Given the description of an element on the screen output the (x, y) to click on. 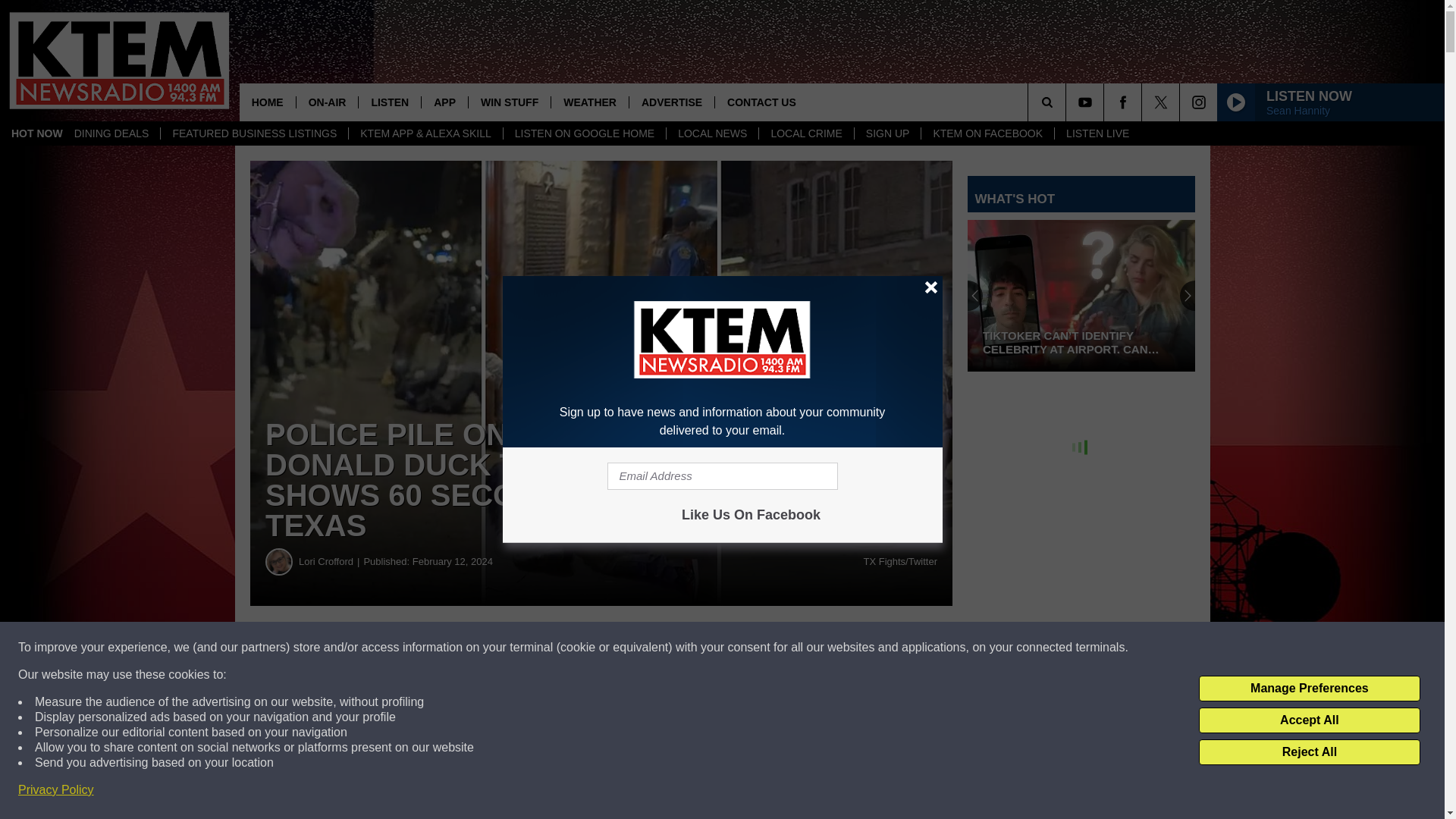
Email Address (722, 475)
CONTACT US (761, 102)
ON-AIR (326, 102)
Manage Preferences (1309, 688)
FEATURED BUSINESS LISTINGS (253, 133)
Accept All (1309, 720)
ADVERTISE (671, 102)
LISTEN LIVE (1097, 133)
LISTEN ON GOOGLE HOME (583, 133)
SEARCH (1068, 102)
Privacy Policy (55, 789)
Share on Facebook (460, 647)
SEARCH (1068, 102)
WIN STUFF (508, 102)
HOME (267, 102)
